Given the description of an element on the screen output the (x, y) to click on. 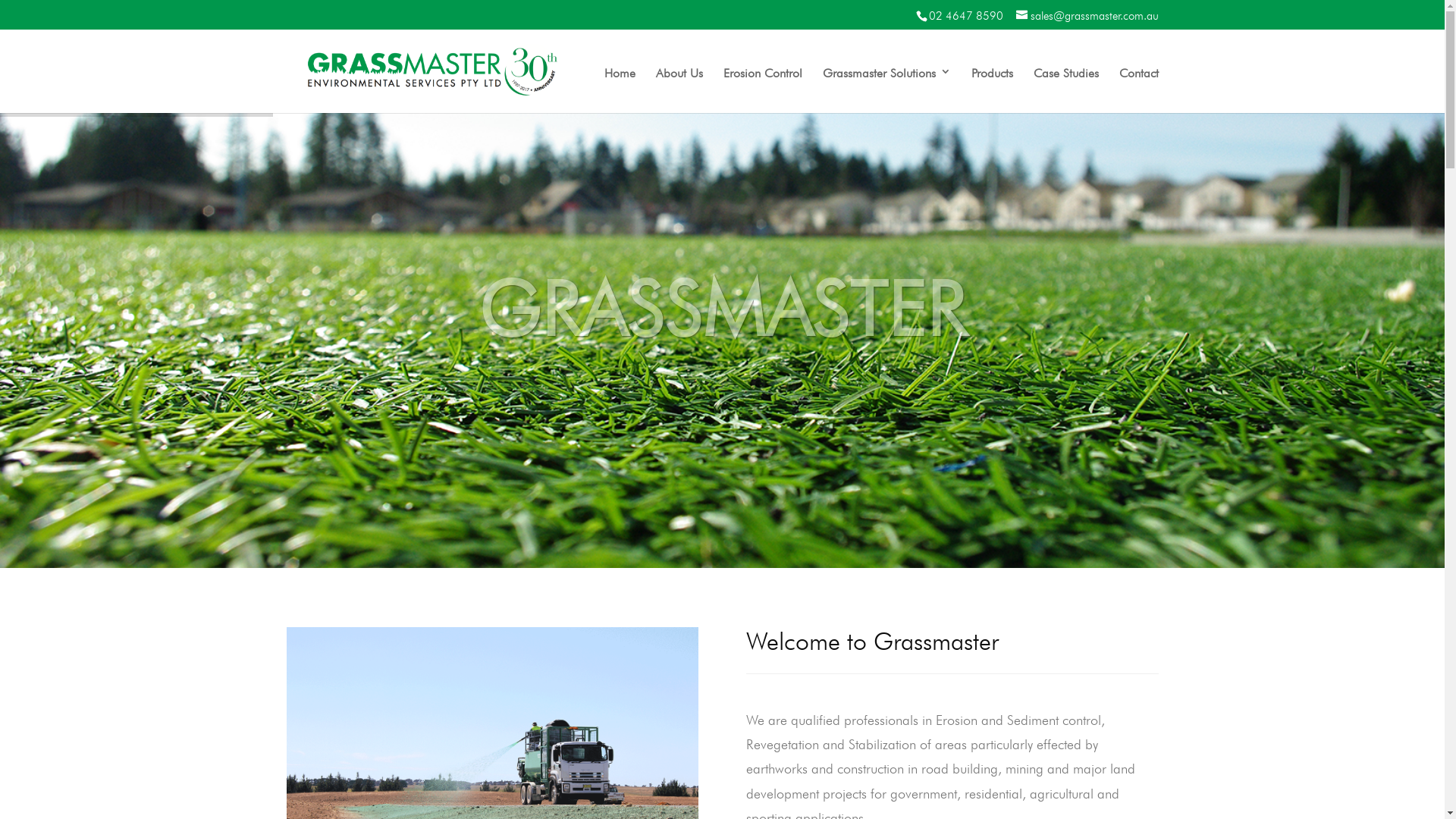
sales@grassmaster.com.au Element type: text (1087, 13)
Home Element type: text (618, 88)
Grassmaster Solutions Element type: text (886, 88)
Products Element type: text (991, 88)
Contact Element type: text (1138, 88)
About Us Element type: text (678, 88)
02 4647 8590 Element type: text (965, 13)
Erosion Control Element type: text (762, 88)
Case Studies Element type: text (1065, 88)
